Given the description of an element on the screen output the (x, y) to click on. 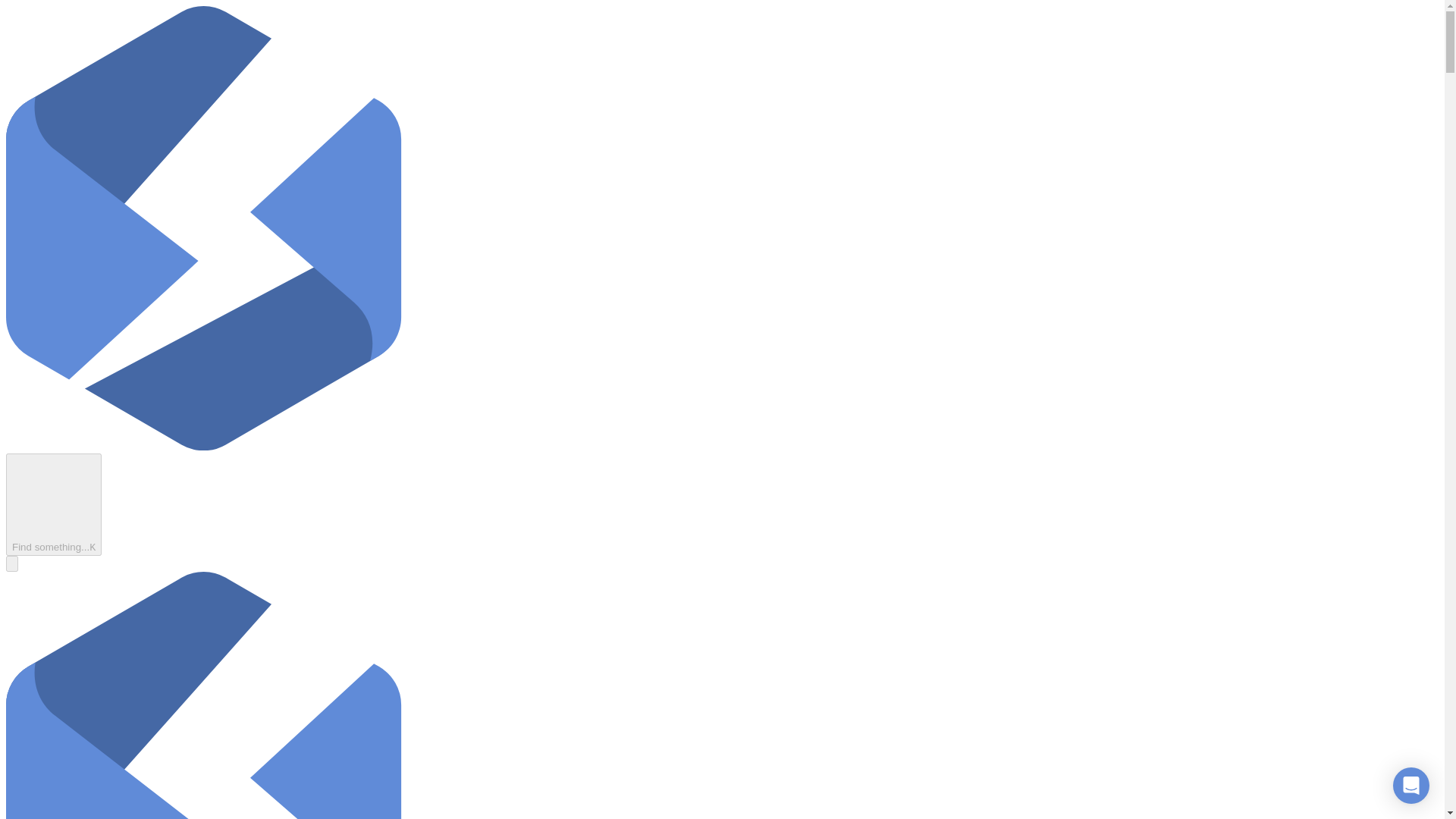
Find something...K (53, 504)
